Given the description of an element on the screen output the (x, y) to click on. 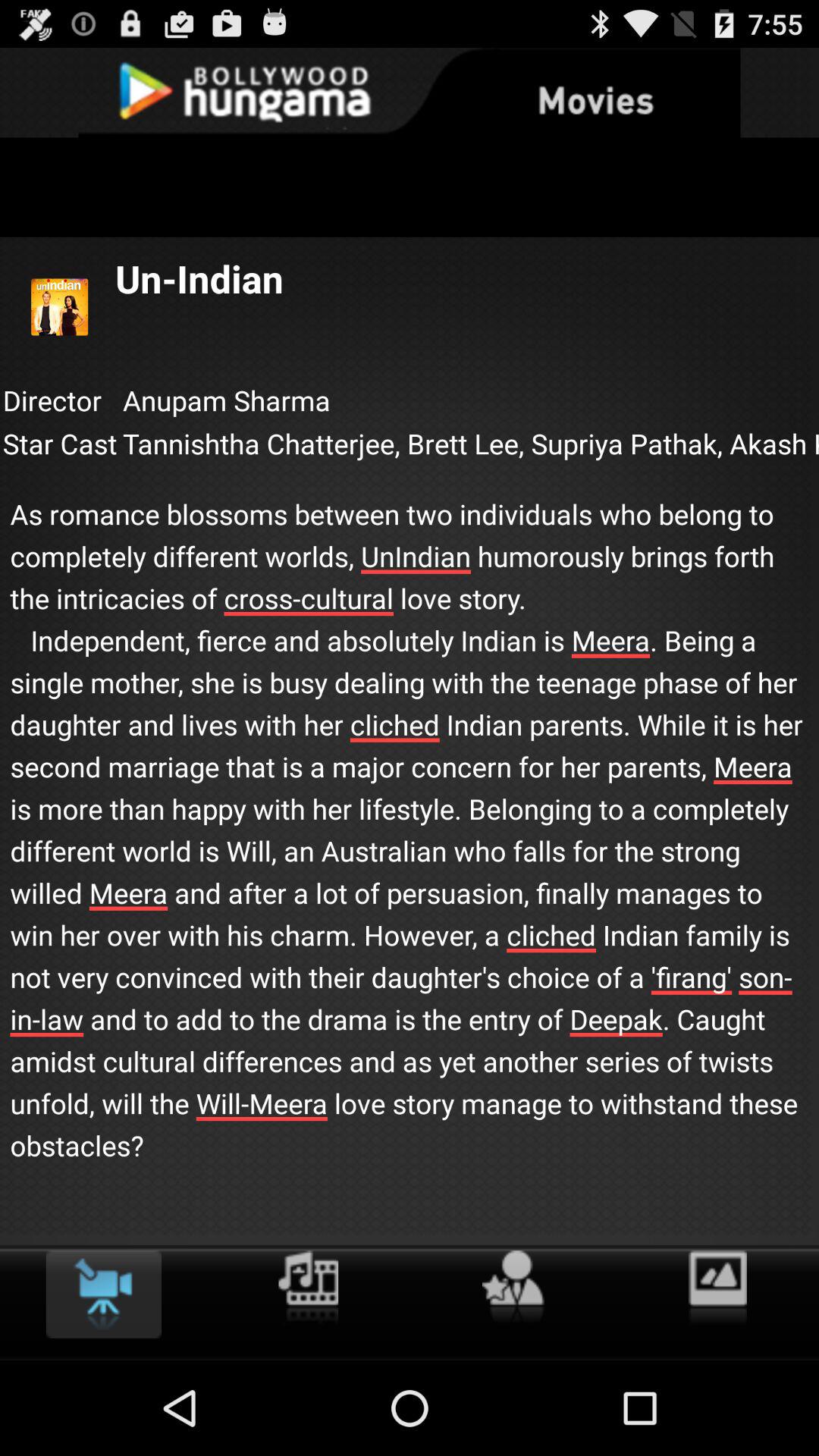
select video option (103, 1294)
